Given the description of an element on the screen output the (x, y) to click on. 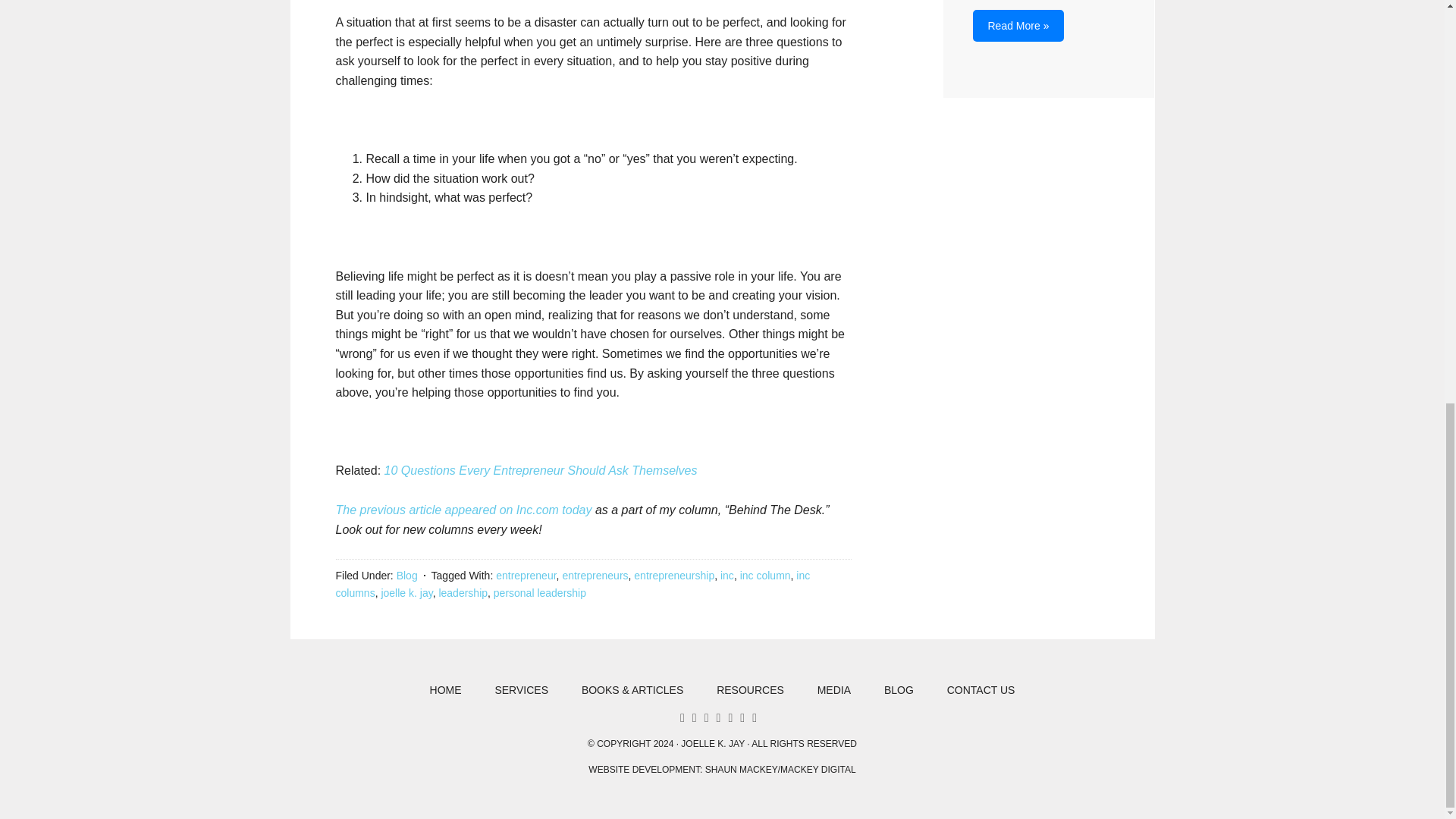
joelle k. jay (406, 592)
HOME (445, 689)
10 Questions Every Entrepreneur Should Ask Themselves (540, 470)
Blog (406, 575)
inc column (764, 575)
entrepreneur (526, 575)
The Inner Edge: The 10 Practices of Personal Leadership (1018, 25)
entrepreneurship (673, 575)
SERVICES (521, 689)
personal leadership (539, 592)
